Given the description of an element on the screen output the (x, y) to click on. 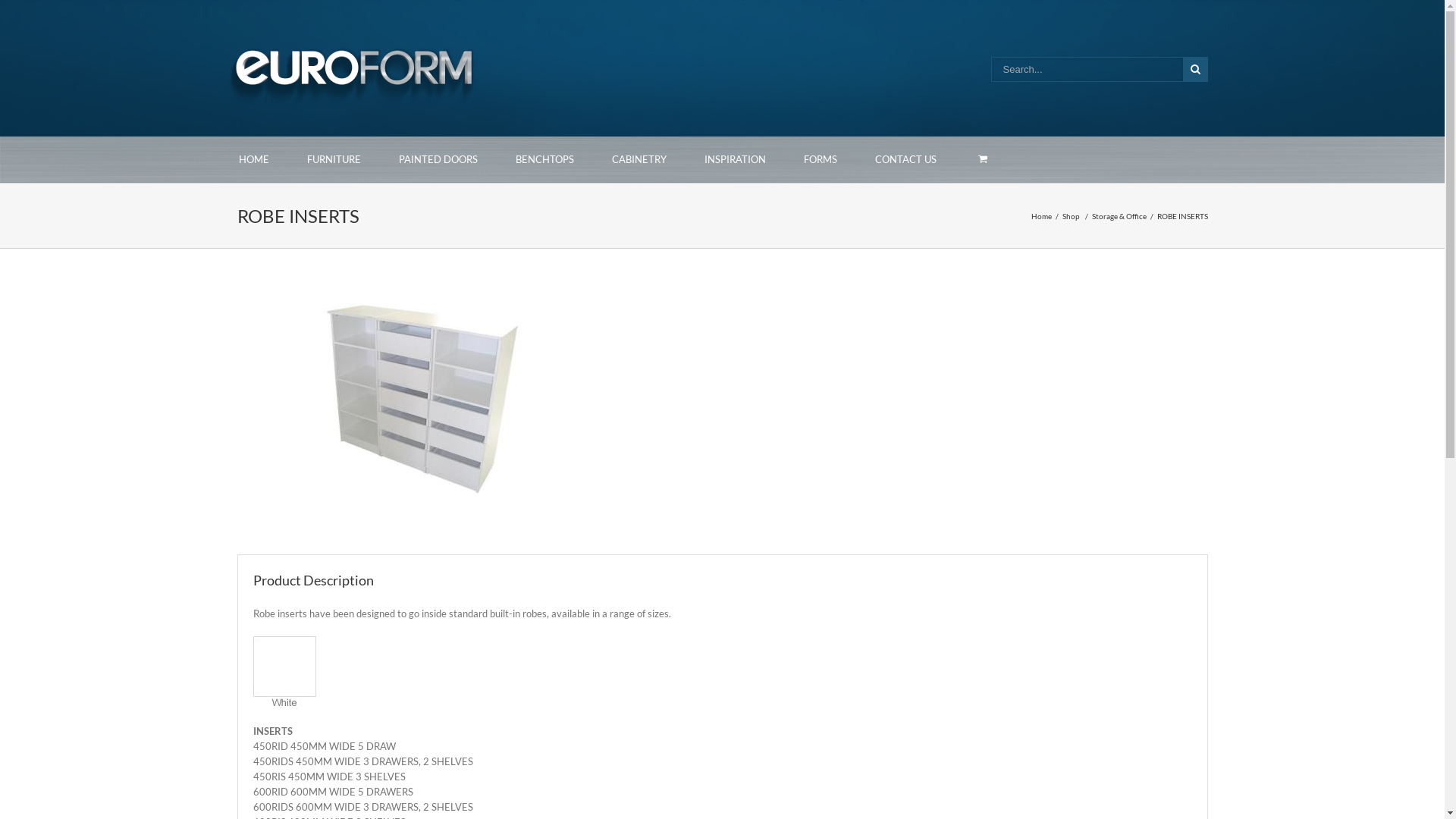
FURNITURE Element type: text (333, 159)
Storage & Office Element type: text (1121, 215)
Shop Element type: text (1071, 215)
PAINTED DOORS Element type: text (437, 159)
CONTACT US Element type: text (904, 159)
CABINETRY Element type: text (639, 159)
Home Element type: text (1043, 215)
INSPIRATION Element type: text (734, 159)
robe-inserts-hero Element type: hover (425, 392)
FORMS Element type: text (819, 159)
HOME Element type: text (253, 159)
BENCHTOPS Element type: text (543, 159)
